Given the description of an element on the screen output the (x, y) to click on. 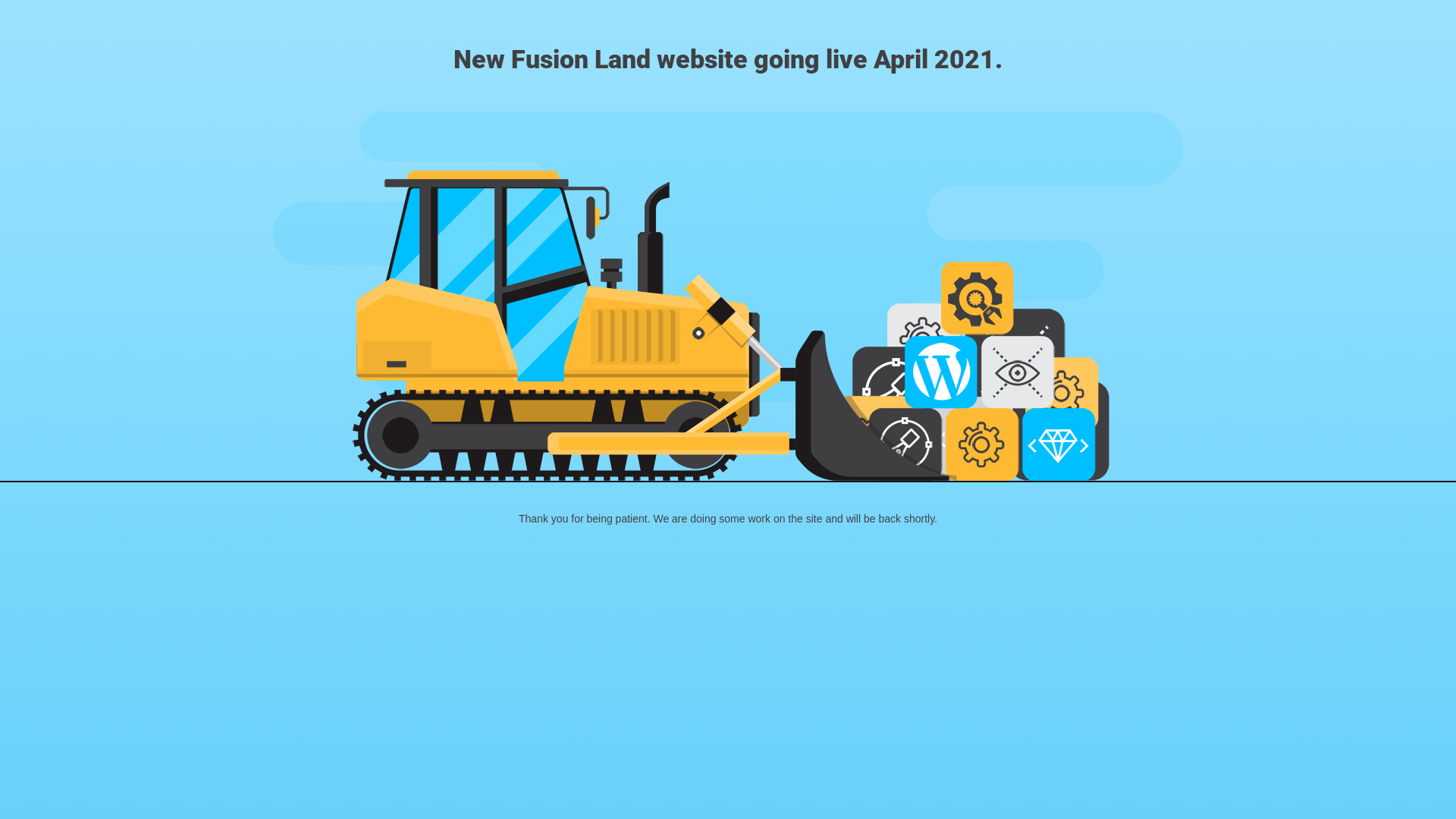
Bulldozer at Work Element type: hover (728, 295)
